Given the description of an element on the screen output the (x, y) to click on. 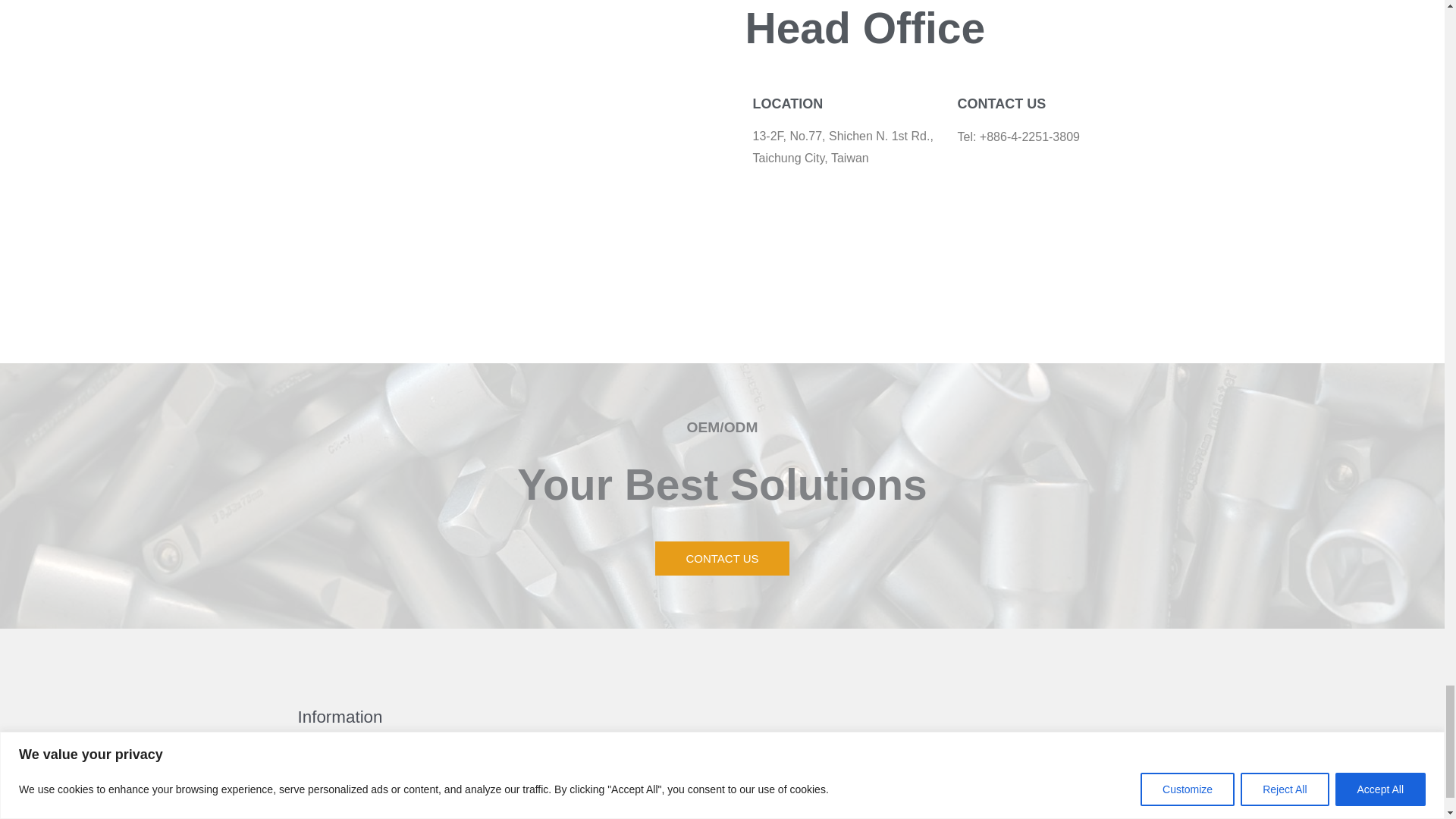
Privacy policy (334, 757)
CONTACT US (722, 558)
